Given the description of an element on the screen output the (x, y) to click on. 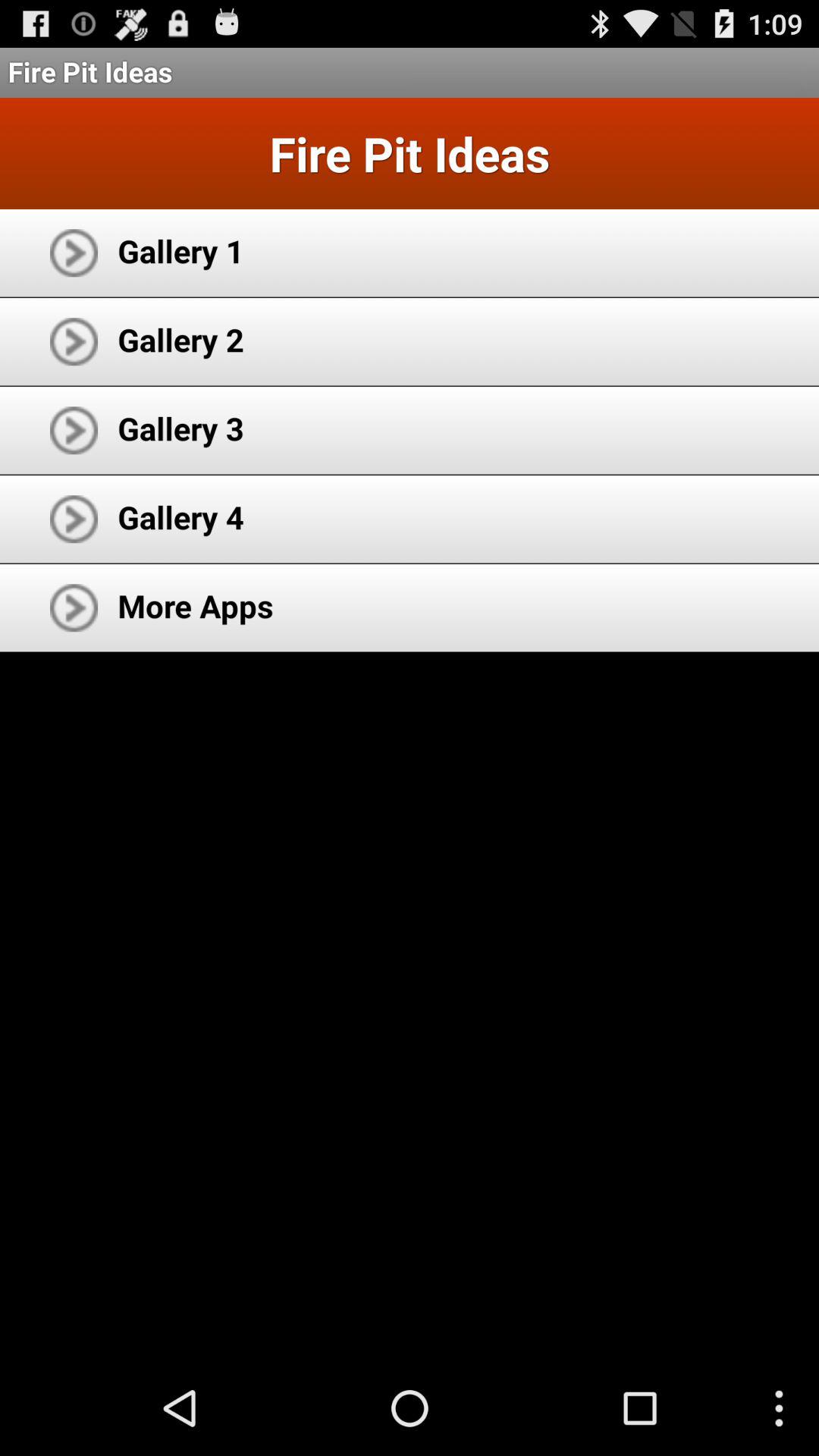
launch the icon below gallery 3 app (180, 516)
